Given the description of an element on the screen output the (x, y) to click on. 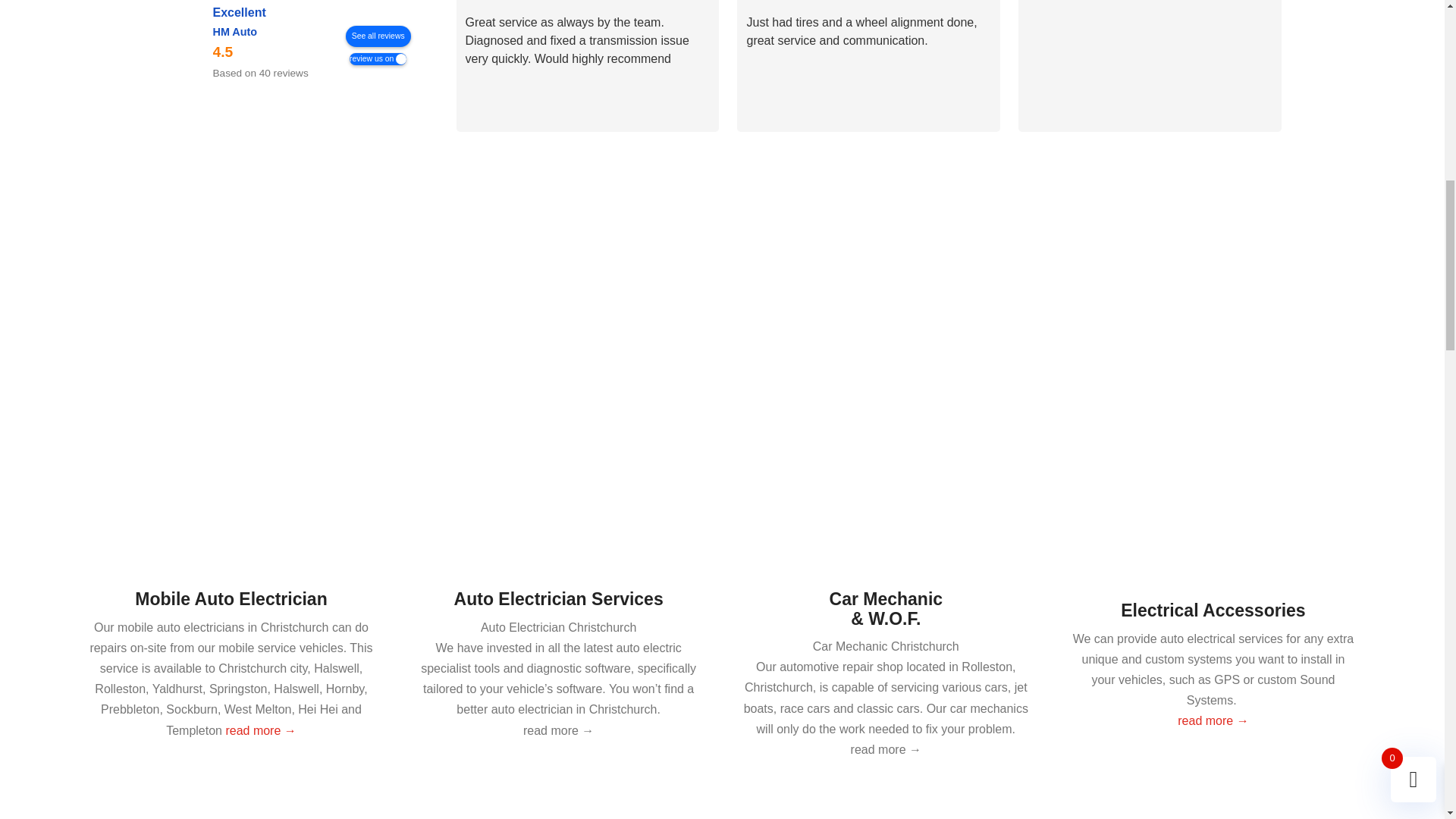
See all reviews (378, 35)
HM Auto (234, 31)
Ben Fisher (1328, 0)
Tom Young (765, 0)
Cory Denton (485, 0)
HM Auto (183, 42)
James Read (1047, 0)
